Given the description of an element on the screen output the (x, y) to click on. 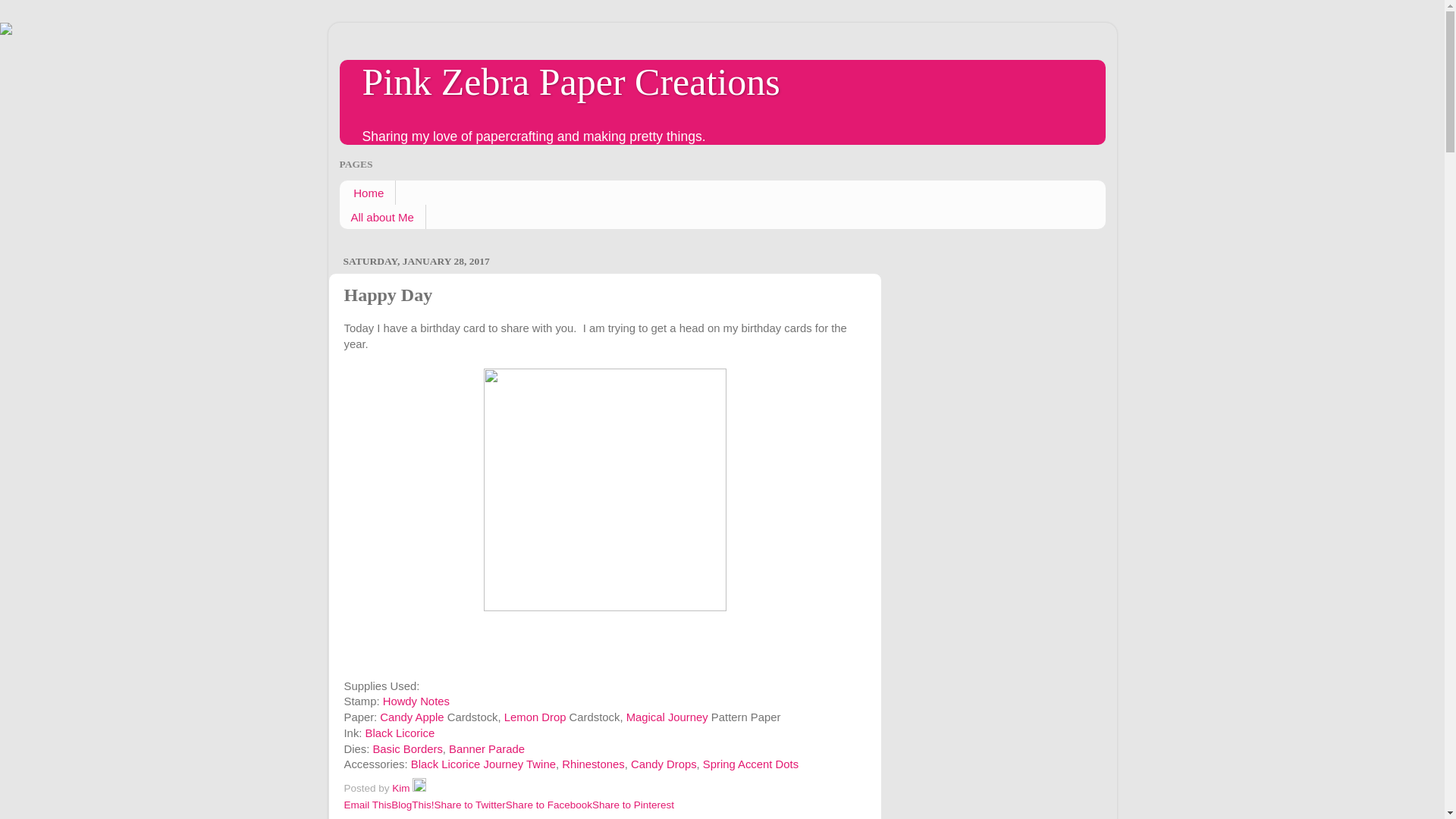
Howdy Notes (415, 701)
Candy Apple (412, 717)
Lemon Drop (536, 717)
Share to Facebook (548, 804)
Spring Accent Dots (750, 764)
Email This (367, 804)
BlogThis! (412, 804)
author profile (401, 787)
Candy Drops (663, 764)
Share to Pinterest (633, 804)
Basic Borders (407, 748)
Share to Twitter (469, 804)
All about Me (382, 216)
Share to Facebook (548, 804)
Edit Post (419, 787)
